Given the description of an element on the screen output the (x, y) to click on. 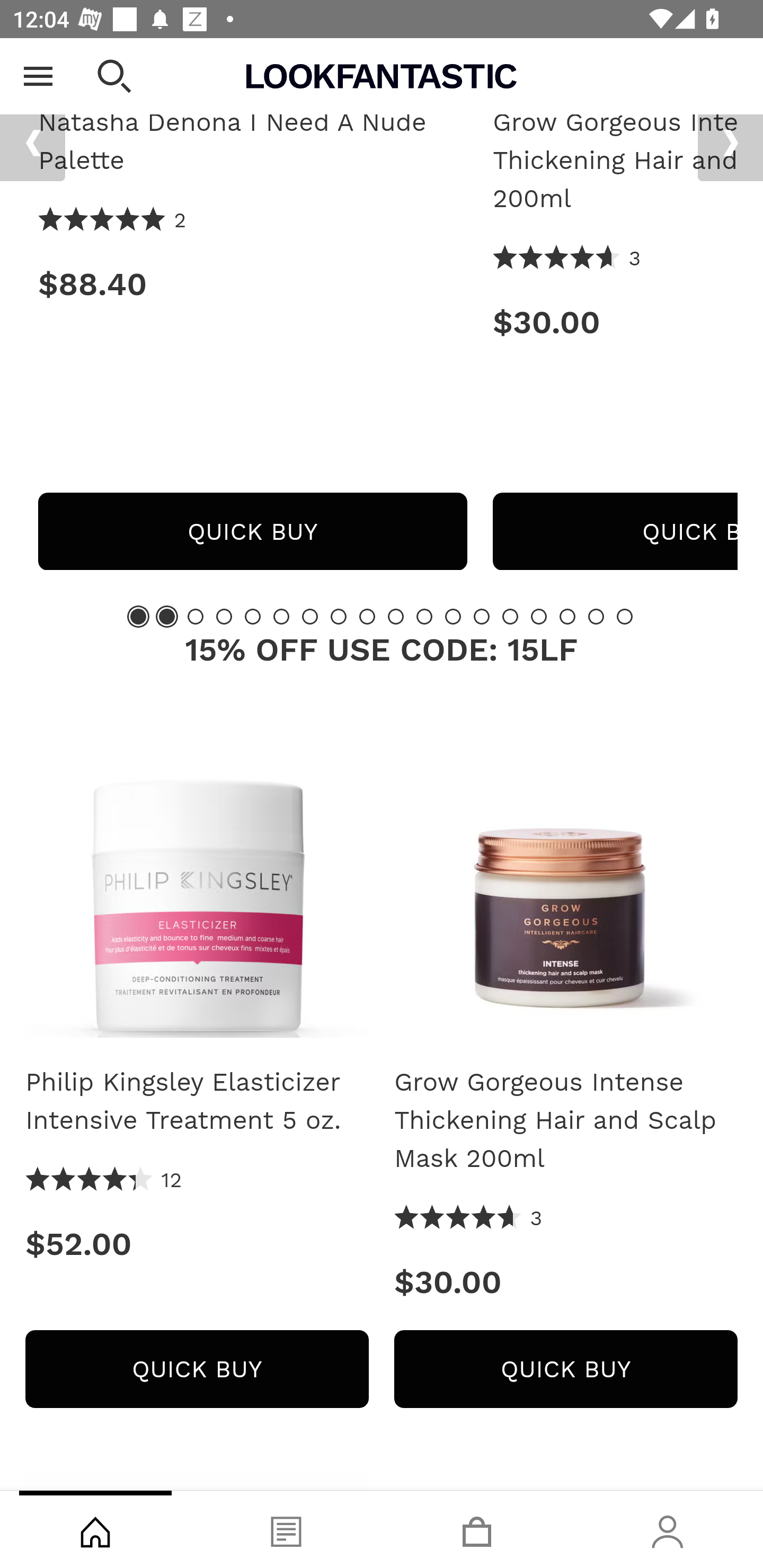
Natasha Denona I Need A Nude Palette (252, 142)
Previous (32, 144)
Next (730, 144)
5.0 Stars 2 Reviews (112, 221)
4.67 Stars 3 Reviews (567, 259)
Price: $88.40 (252, 284)
Price: $30.00 (614, 323)
QUICK BUY NATASHA DENONA I NEED A NUDE PALETTE (252, 532)
Showing Slide 1 (Current Item) (138, 616)
Showing Slide 2 (Current Item) (166, 616)
Slide 3 (195, 616)
Slide 4 (223, 616)
Slide 5 (252, 616)
Slide 6 (281, 616)
Slide 7 (310, 616)
Slide 8 (338, 616)
Slide 9 (367, 616)
Slide 10 (395, 616)
Slide 11 (424, 616)
Slide 12 (452, 616)
Slide 13 (481, 616)
Slide 14 (510, 616)
Slide 15 (539, 616)
Slide 16 (567, 616)
Slide 17 (596, 616)
Slide 18 (624, 616)
4.33 Stars 12 Reviews (104, 1181)
4.67 Stars 3 Reviews (468, 1219)
Price: $52.00 (196, 1244)
Price: $30.00 (565, 1283)
Shop, tab, 1 of 4 (95, 1529)
Blog, tab, 2 of 4 (285, 1529)
Basket, tab, 3 of 4 (476, 1529)
Account, tab, 4 of 4 (667, 1529)
